Given the description of an element on the screen output the (x, y) to click on. 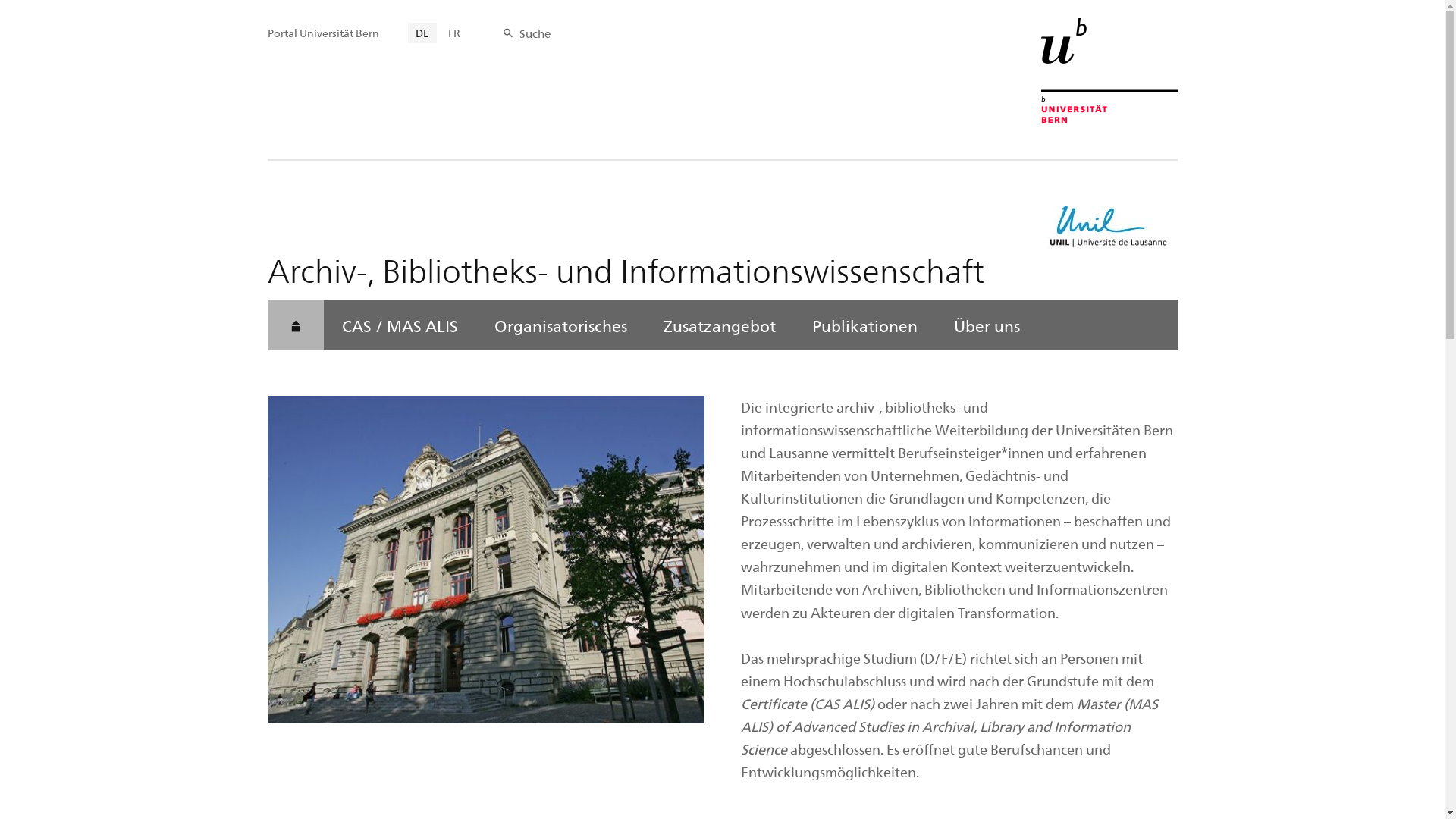
Publikationen Element type: text (864, 325)
Zusatzangebot Element type: text (718, 325)
Titelbild: CAS / MAS ALIS Element type: hover (484, 559)
Organisatorisches Element type: text (560, 325)
Startseite Element type: text (266, 29)
DE Element type: text (421, 32)
FR Element type: text (453, 32)
CAS / MAS ALIS Element type: text (399, 325)
Startseite Element type: text (294, 325)
